Given the description of an element on the screen output the (x, y) to click on. 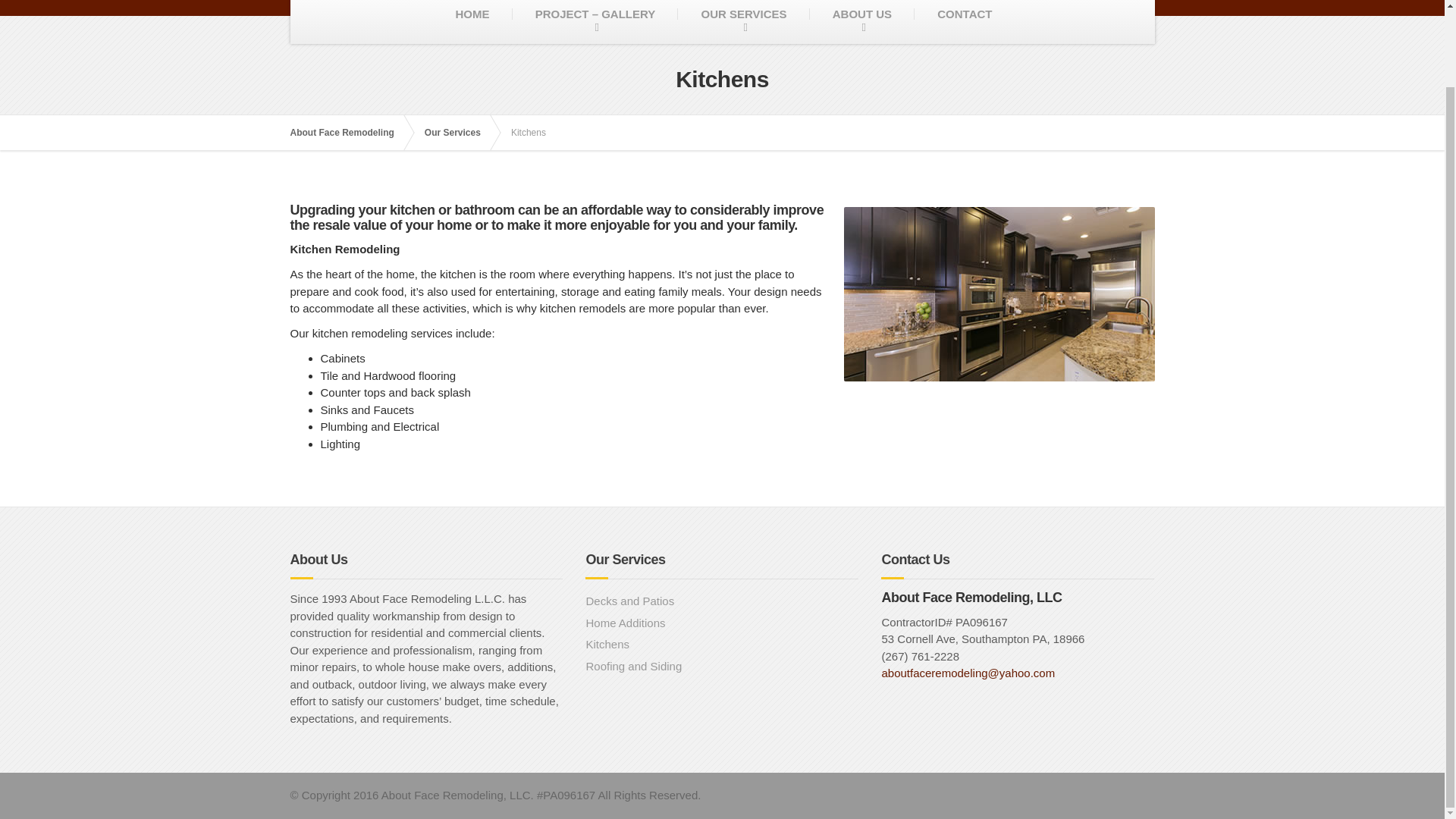
Go to Our Services. (460, 132)
Our Services (460, 132)
CONTACT (964, 22)
kitchens (998, 294)
ABOUT US (861, 22)
Home Additions (722, 623)
Decks and Patios (722, 601)
Go to About Face Remodeling. (349, 132)
Roofing and Siding (722, 667)
Kitchens (722, 644)
About Face Remodeling (349, 132)
HOME (472, 22)
OUR SERVICES (743, 22)
